Given the description of an element on the screen output the (x, y) to click on. 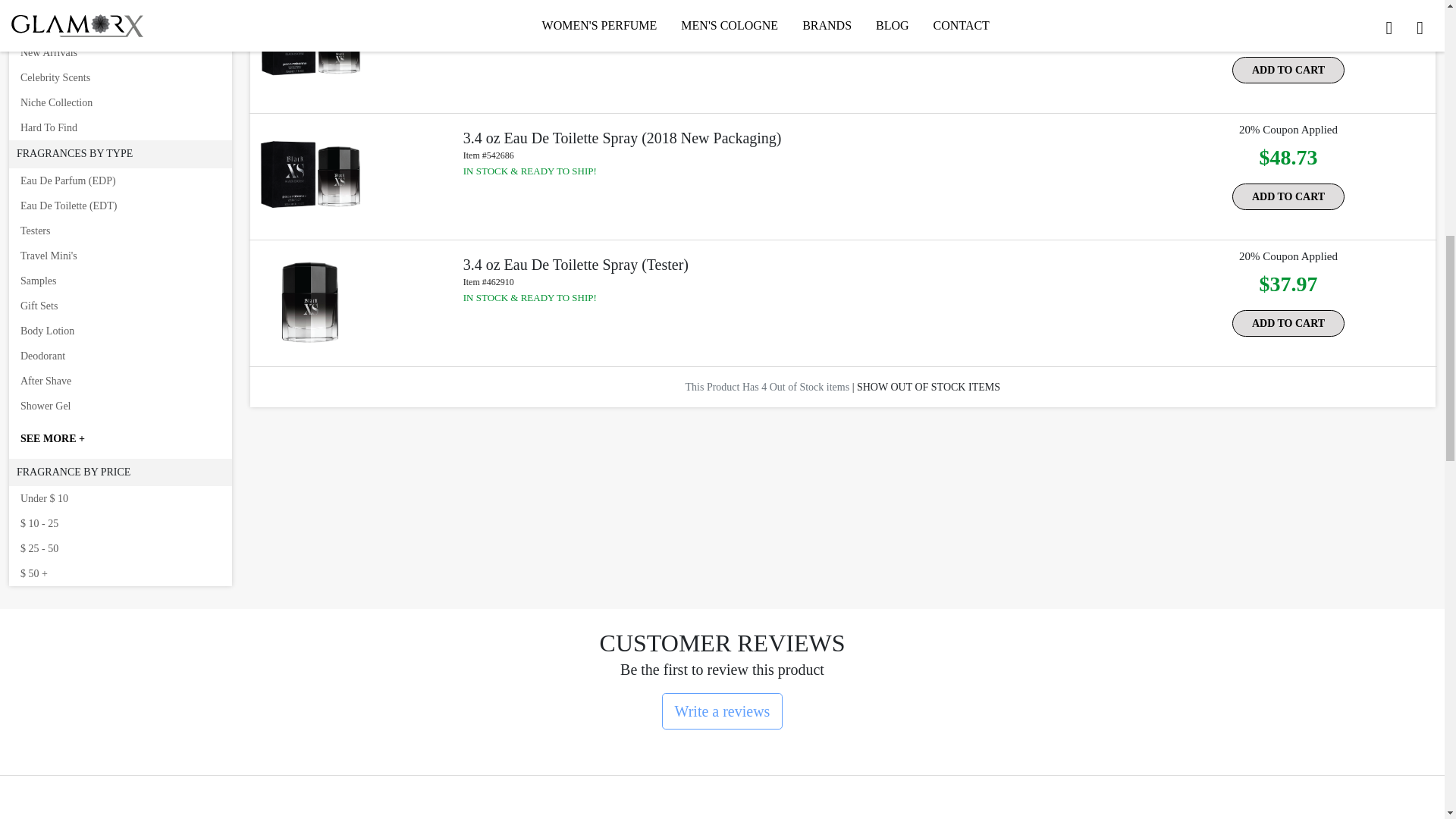
Celebrity Scents (119, 77)
Travel Mini's (119, 255)
Gift Sets (119, 305)
After Shave (119, 380)
Niche Collection (119, 102)
Deodorant (119, 355)
Shower Gel (119, 405)
Body Lotion (119, 330)
New Arrivals (119, 52)
Samples (119, 280)
Testers (119, 230)
Best Sellers (119, 27)
Hard To Find (119, 127)
